Given the description of an element on the screen output the (x, y) to click on. 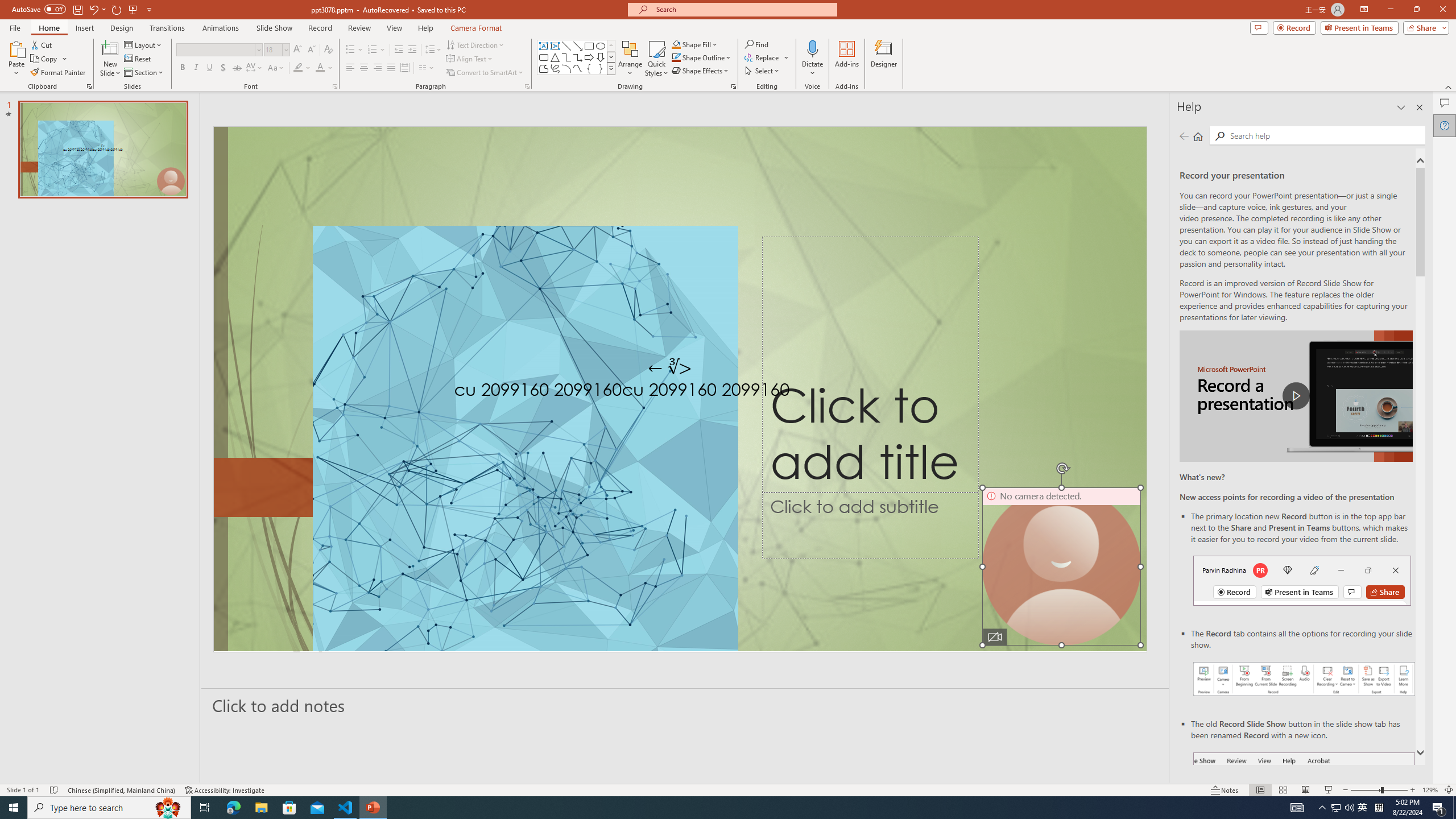
Text Box (543, 45)
TextBox 61 (678, 391)
Dictate (812, 58)
Numbering (376, 49)
Camera 9, No camera detected. (1061, 566)
Numbering (372, 49)
Accessibility Checker Accessibility: Investigate (224, 790)
Title TextBox (869, 364)
Arc (566, 68)
Shape Effects (700, 69)
